Given the description of an element on the screen output the (x, y) to click on. 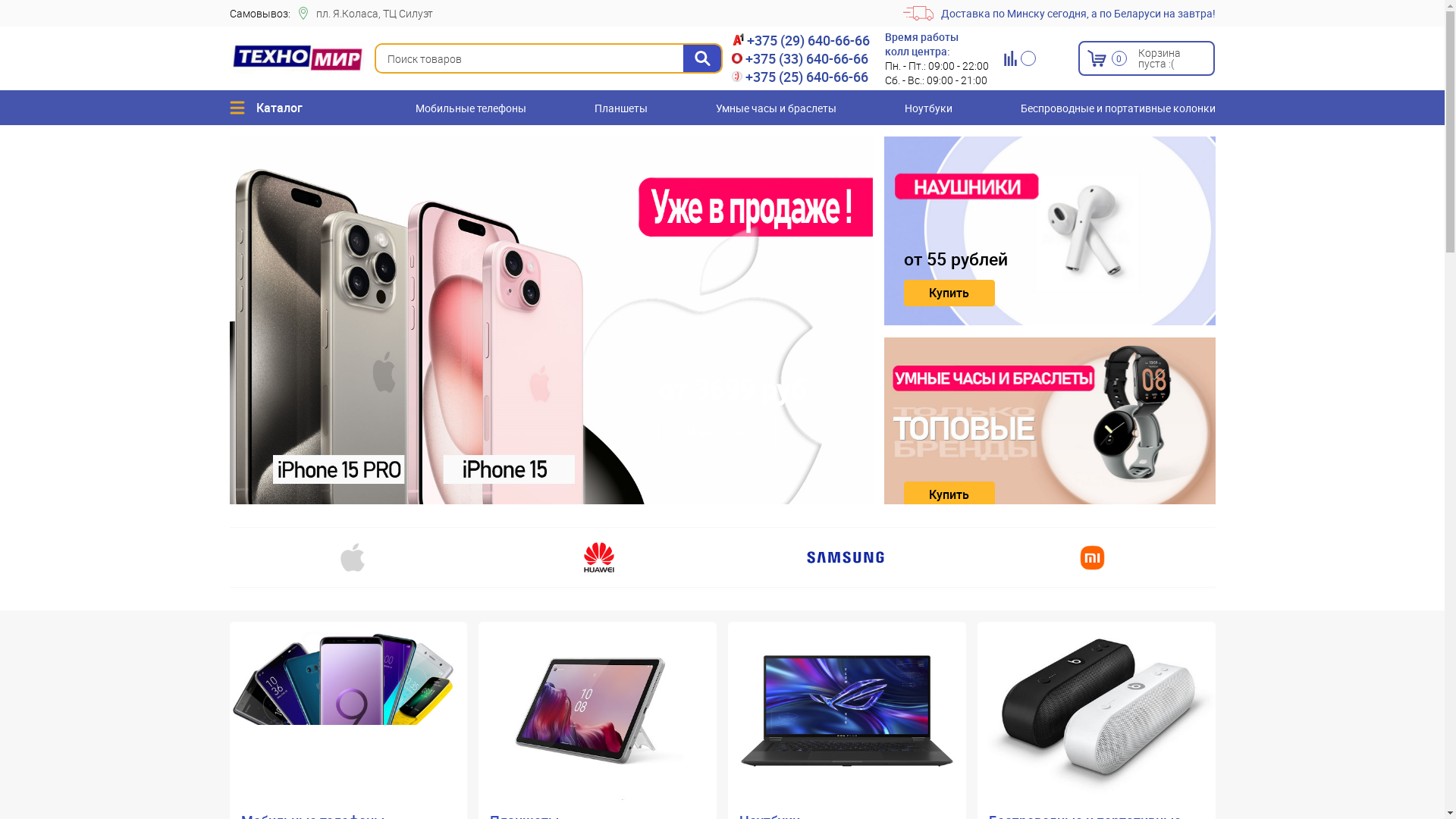
+375 (29) 640-66-66 Element type: text (800, 40)
+375 (25) 640-66-66 Element type: text (800, 76)
+375 (33) 640-66-66 Element type: text (800, 58)
